Given the description of an element on the screen output the (x, y) to click on. 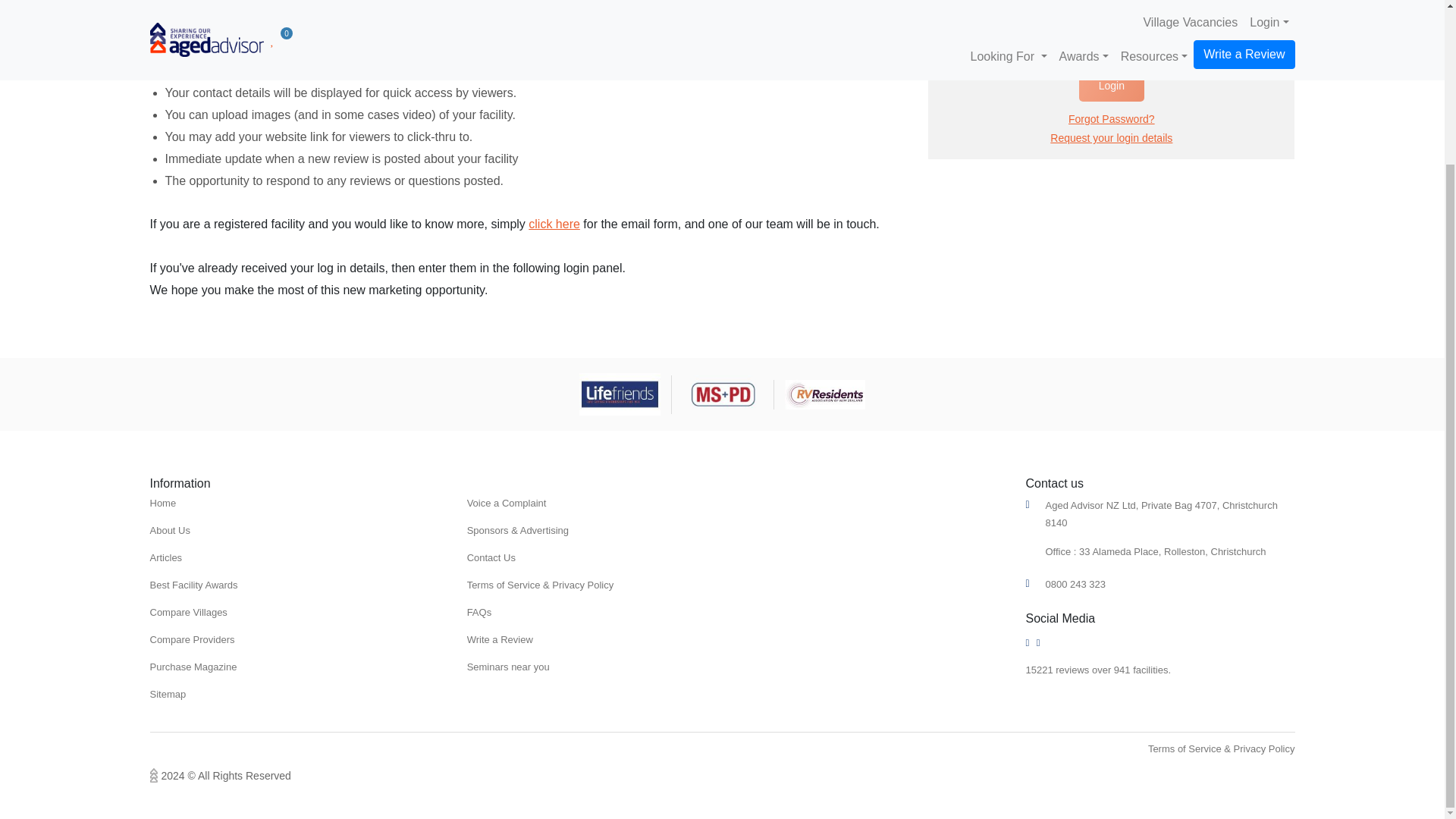
MS-PD Canterbury (722, 394)
RVRANZ - Retirement Villages Residents Assoc. NZ (824, 394)
on (944, 54)
Life Friends (620, 393)
